Given the description of an element on the screen output the (x, y) to click on. 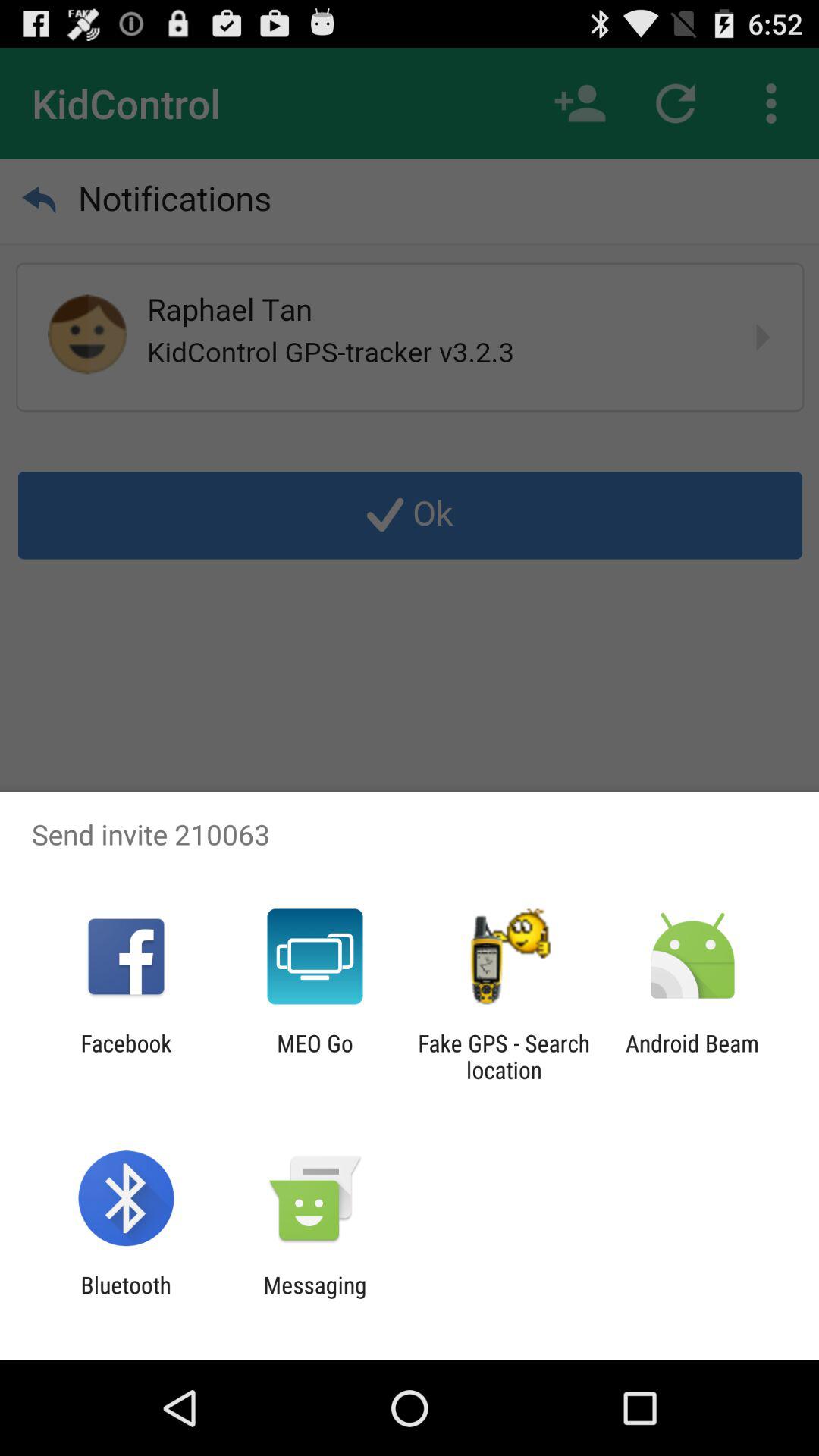
flip until facebook (125, 1056)
